Given the description of an element on the screen output the (x, y) to click on. 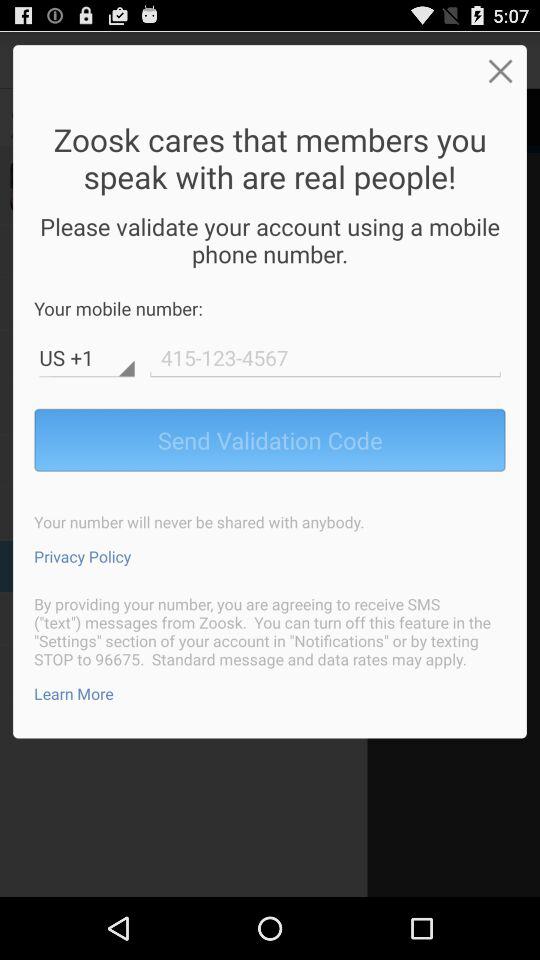
close the option (500, 70)
